Given the description of an element on the screen output the (x, y) to click on. 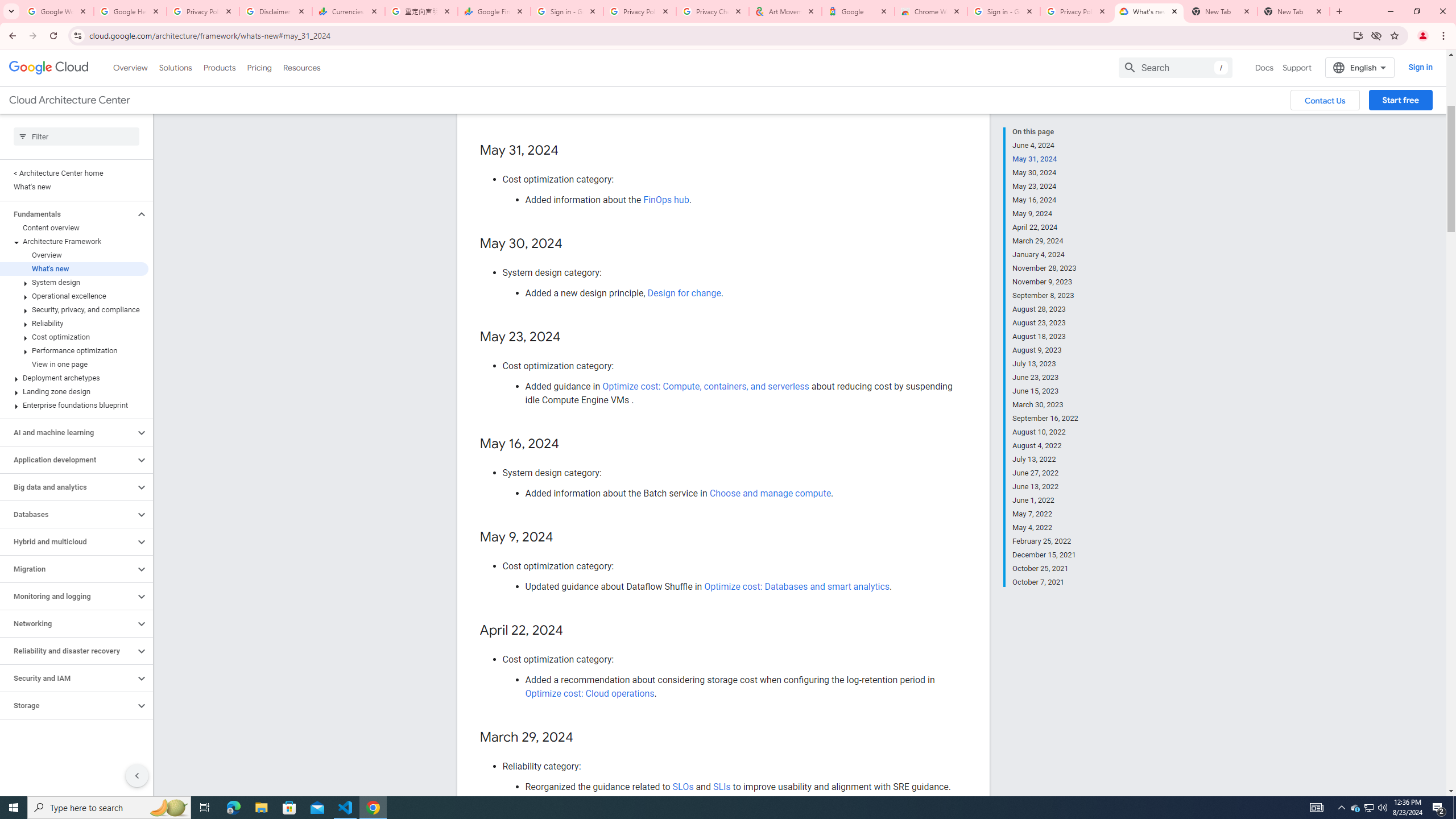
April 22, 2024 (1044, 227)
Hybrid and multicloud (67, 541)
Hide side navigation (136, 775)
Copy link to this section: May 9, 2024 (564, 537)
Enterprise foundations blueprint (74, 404)
Reliability and disaster recovery (67, 650)
Google Cloud (48, 67)
